Given the description of an element on the screen output the (x, y) to click on. 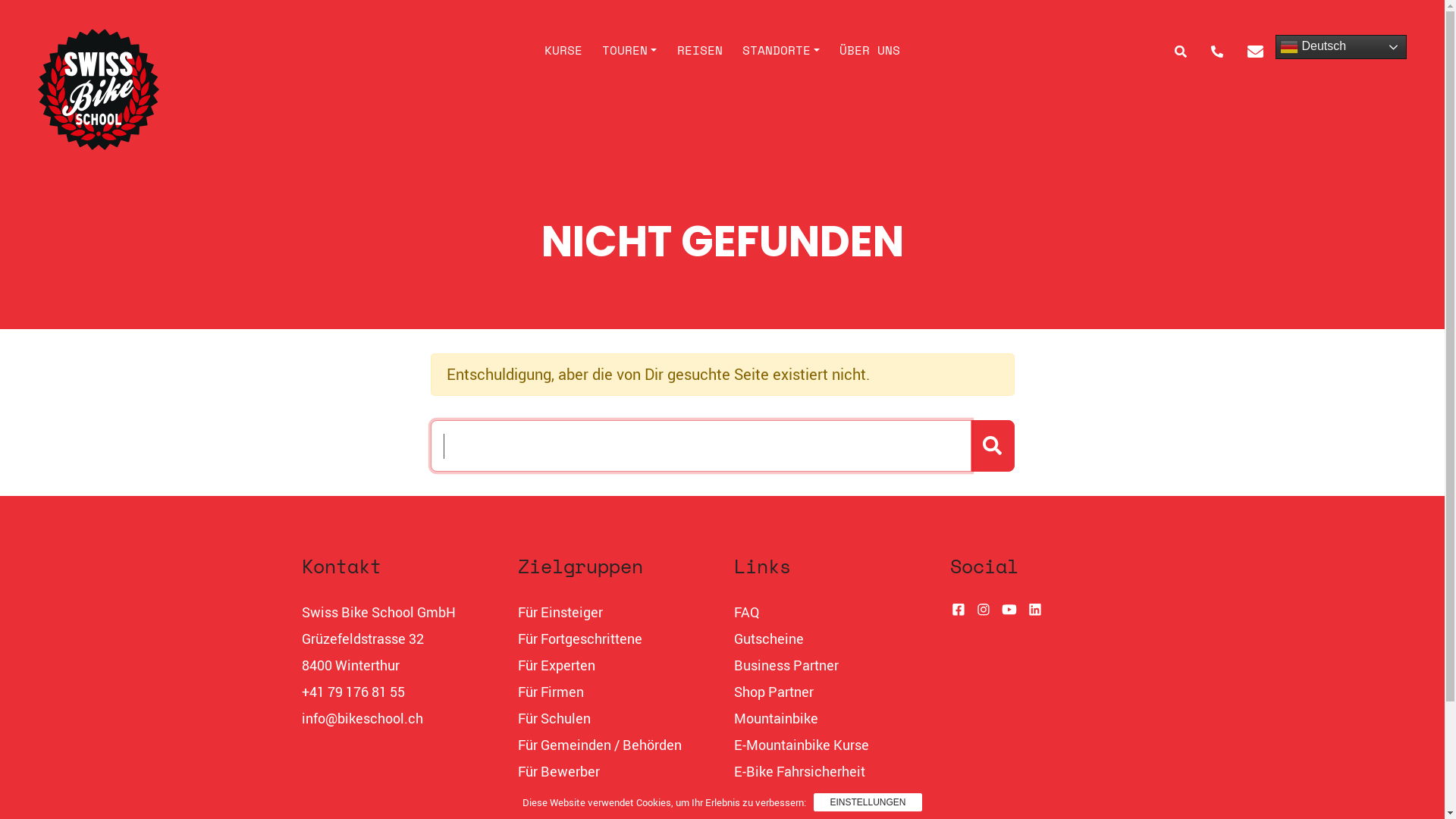
E-Mountainbike Kurse Element type: text (801, 744)
info@bikeschool.ch Element type: text (362, 718)
LinkedIn Element type: hover (1034, 608)
Homepage Element type: hover (197, 89)
Road / Gravel Element type: text (775, 797)
FAQ Element type: text (746, 611)
TOUREN Element type: text (629, 49)
KURSE Element type: text (562, 49)
STANDORTE Element type: text (780, 49)
REISEN Element type: text (698, 49)
EINSTELLUNGEN Element type: text (867, 802)
Business Partner Element type: text (786, 664)
Shop Partner Element type: text (773, 691)
+41 79 176 81 55 Element type: text (352, 691)
Mountainbike Element type: text (776, 718)
Deutsch Element type: text (1340, 46)
E-Bike Fahrsicherheit Element type: text (799, 771)
YouTube Element type: hover (1009, 608)
Gutscheine Element type: text (768, 638)
Instagram Element type: hover (983, 608)
Facebook Element type: hover (957, 608)
